Given the description of an element on the screen output the (x, y) to click on. 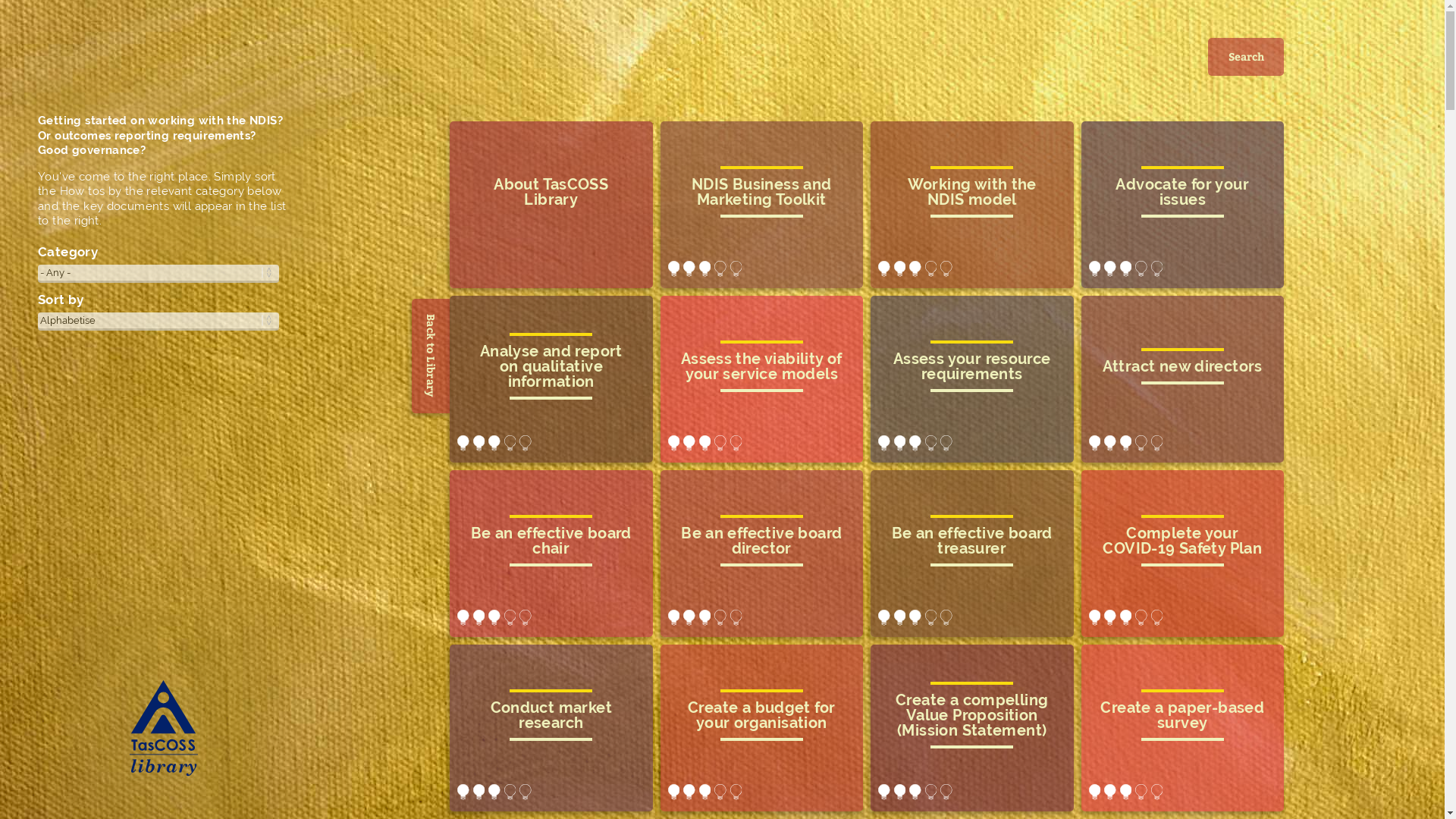
conduct market research Element type: text (550, 727)
be an effective board director Element type: text (760, 553)
create a compelling Value Proposition (Mission Statement) Element type: text (971, 727)
advocate for your issues Element type: text (1182, 204)
analyse and report on qualitative information Element type: text (550, 378)
Apply Element type: text (31, 18)
Search Element type: text (1245, 56)
create a budget for your organisation Element type: text (760, 727)
create a paper-based survey Element type: text (1182, 727)
Working with the NDIS model Element type: text (971, 204)
attract new directors Element type: text (1182, 378)
NDIS Business and Marketing Toolkit Element type: text (760, 204)
assess your resource requirements Element type: text (971, 378)
assess the viability of your service models Element type: text (760, 378)
Back to Library Element type: text (468, 317)
be an effective board treasurer Element type: text (971, 553)
About TasCOSS Library Element type: text (550, 204)
TasCOSS Library Home Element type: hover (162, 730)
complete your COVID-19 Safety Plan Element type: text (1182, 553)
be an effective board chair Element type: text (550, 553)
